Given the description of an element on the screen output the (x, y) to click on. 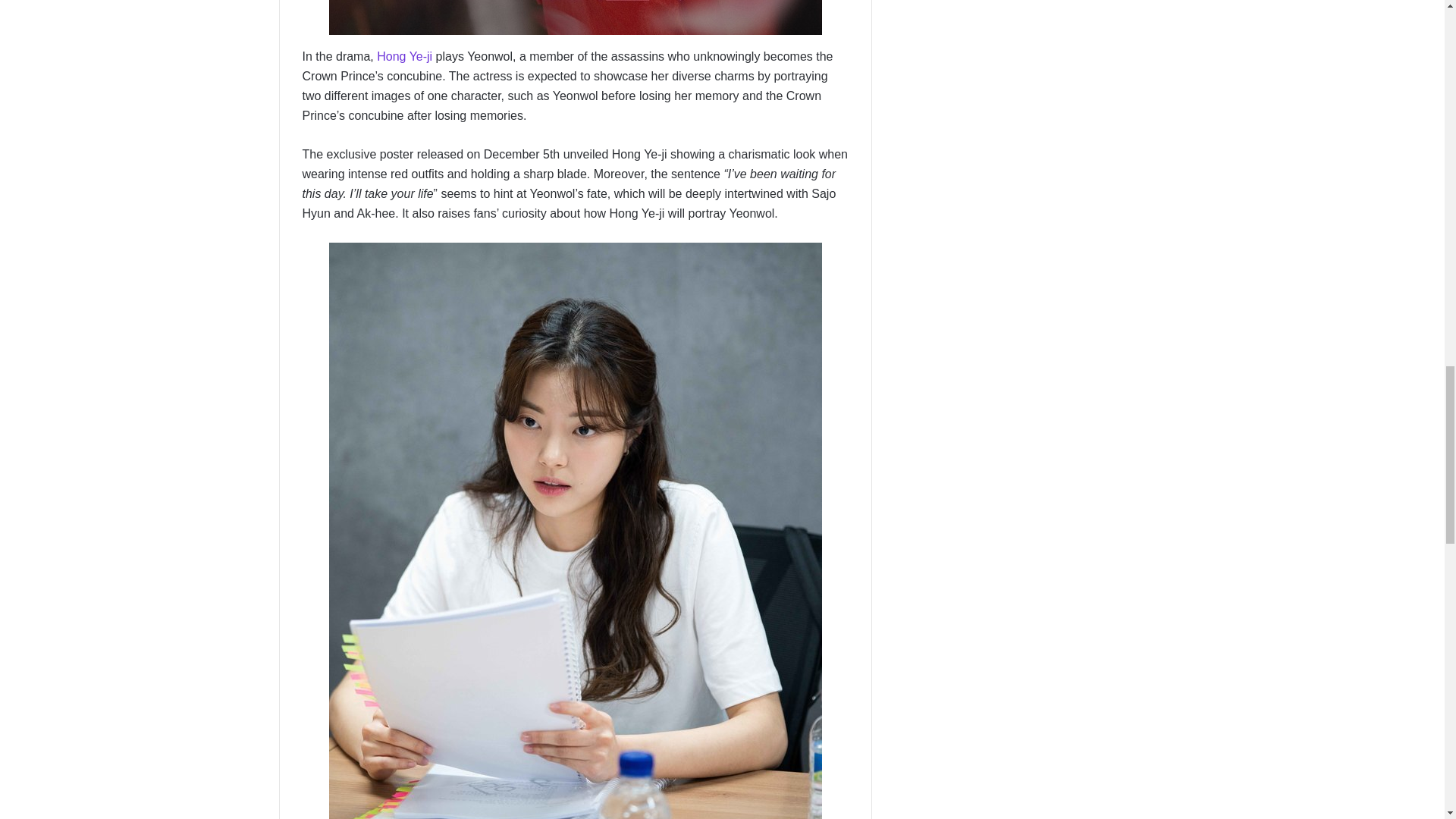
Hong Ye-ji (404, 56)
